Given the description of an element on the screen output the (x, y) to click on. 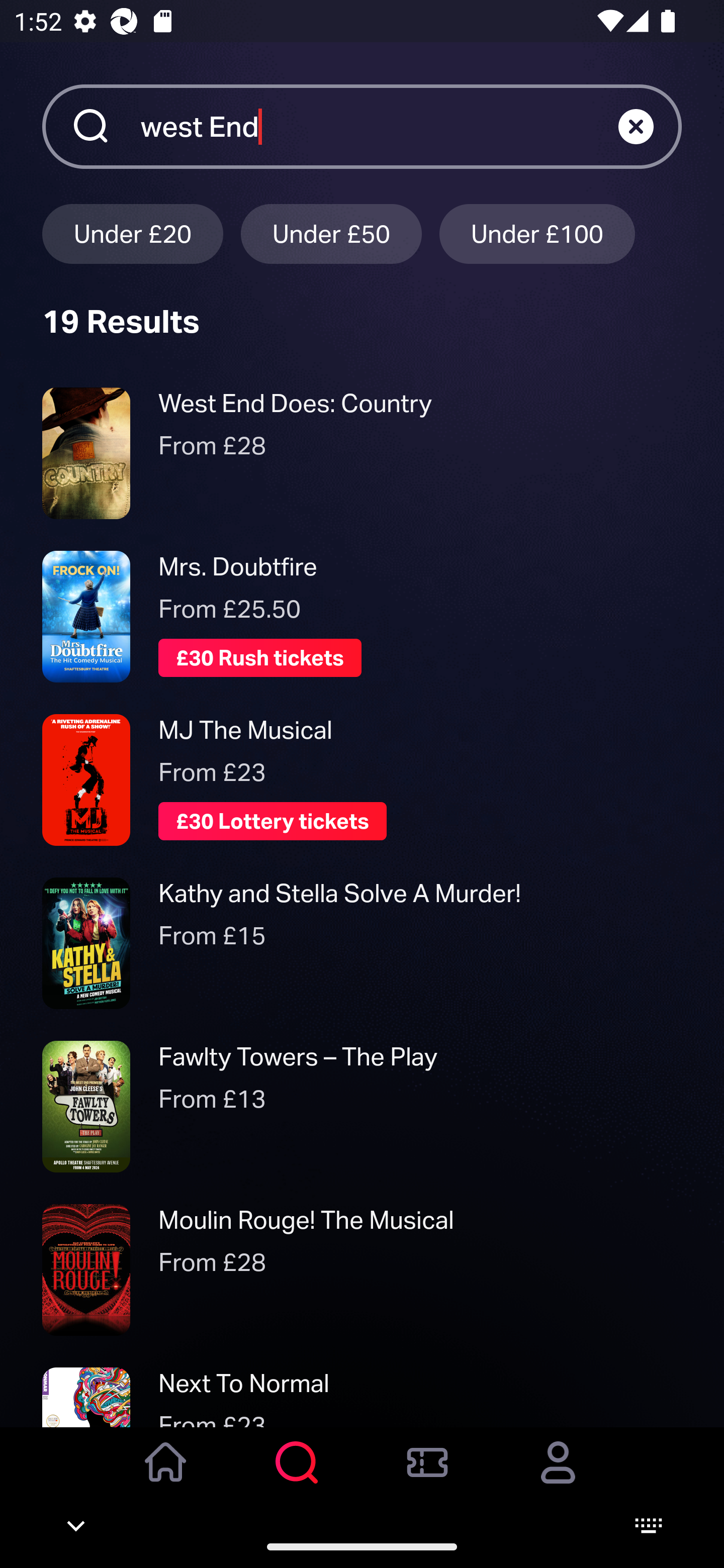
west End (379, 126)
Under £20 (131, 233)
Under £50 (331, 233)
Under £100 (536, 233)
Home (165, 1475)
Orders (427, 1475)
Account (558, 1475)
